Given the description of an element on the screen output the (x, y) to click on. 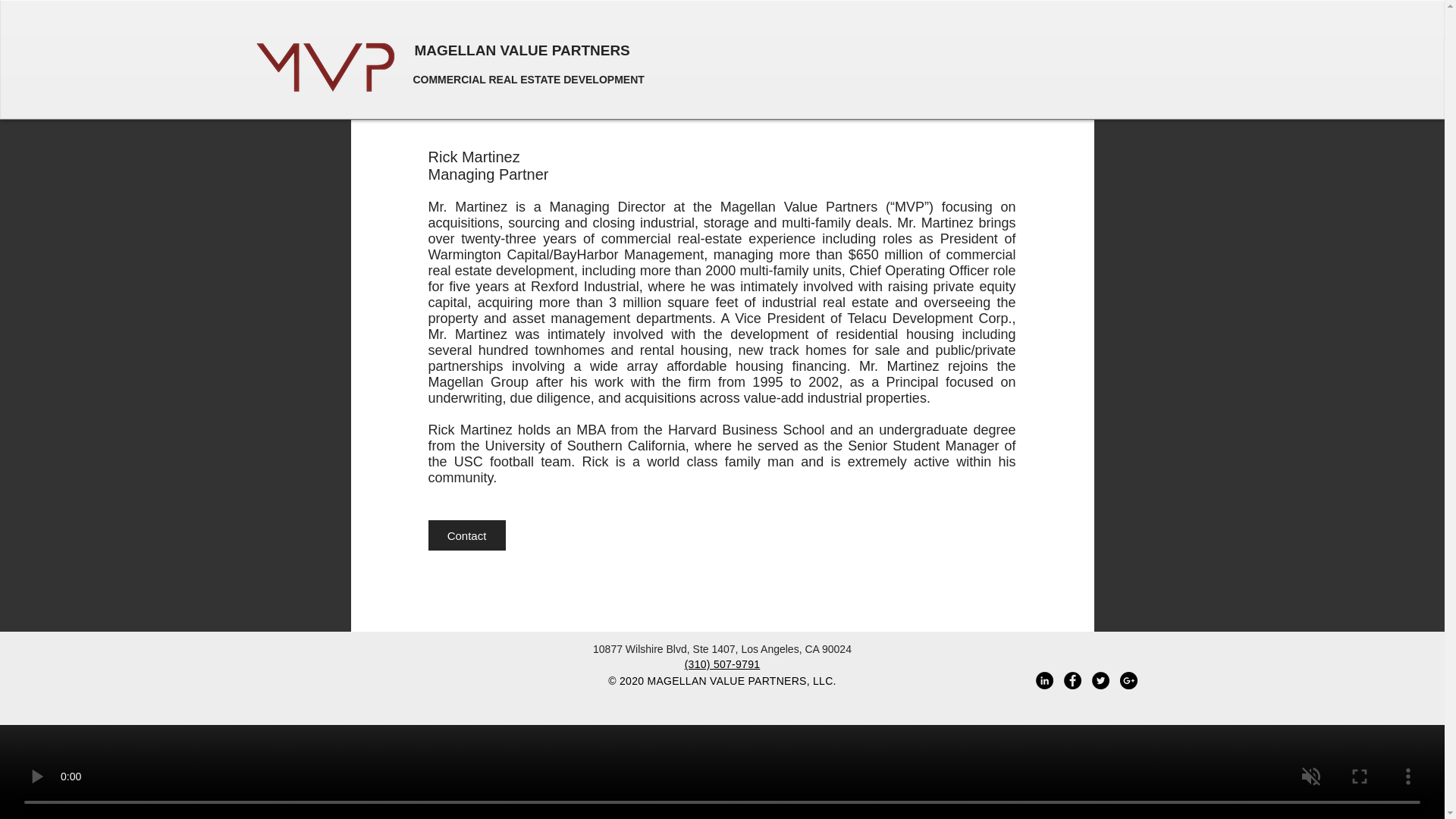
Contact (466, 535)
